Given the description of an element on the screen output the (x, y) to click on. 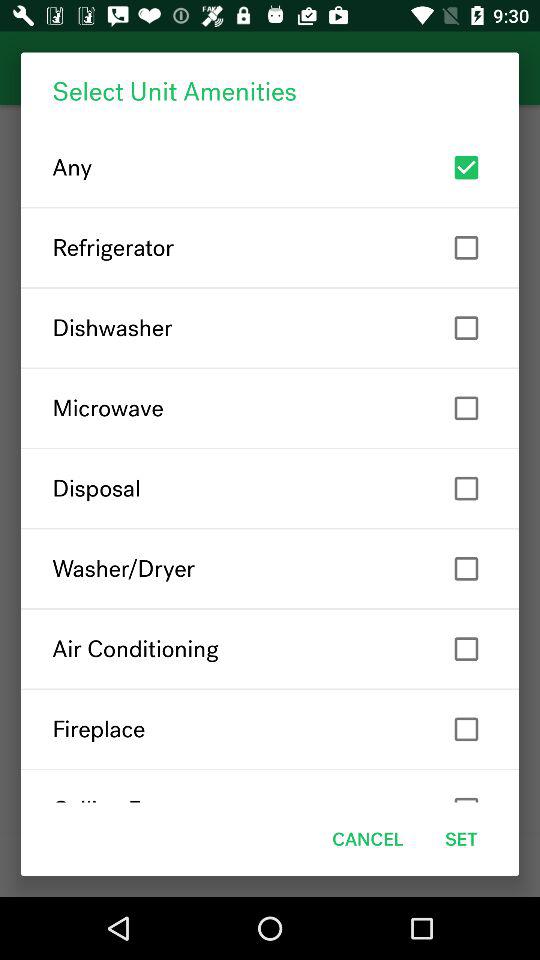
turn on the microwave icon (270, 408)
